Given the description of an element on the screen output the (x, y) to click on. 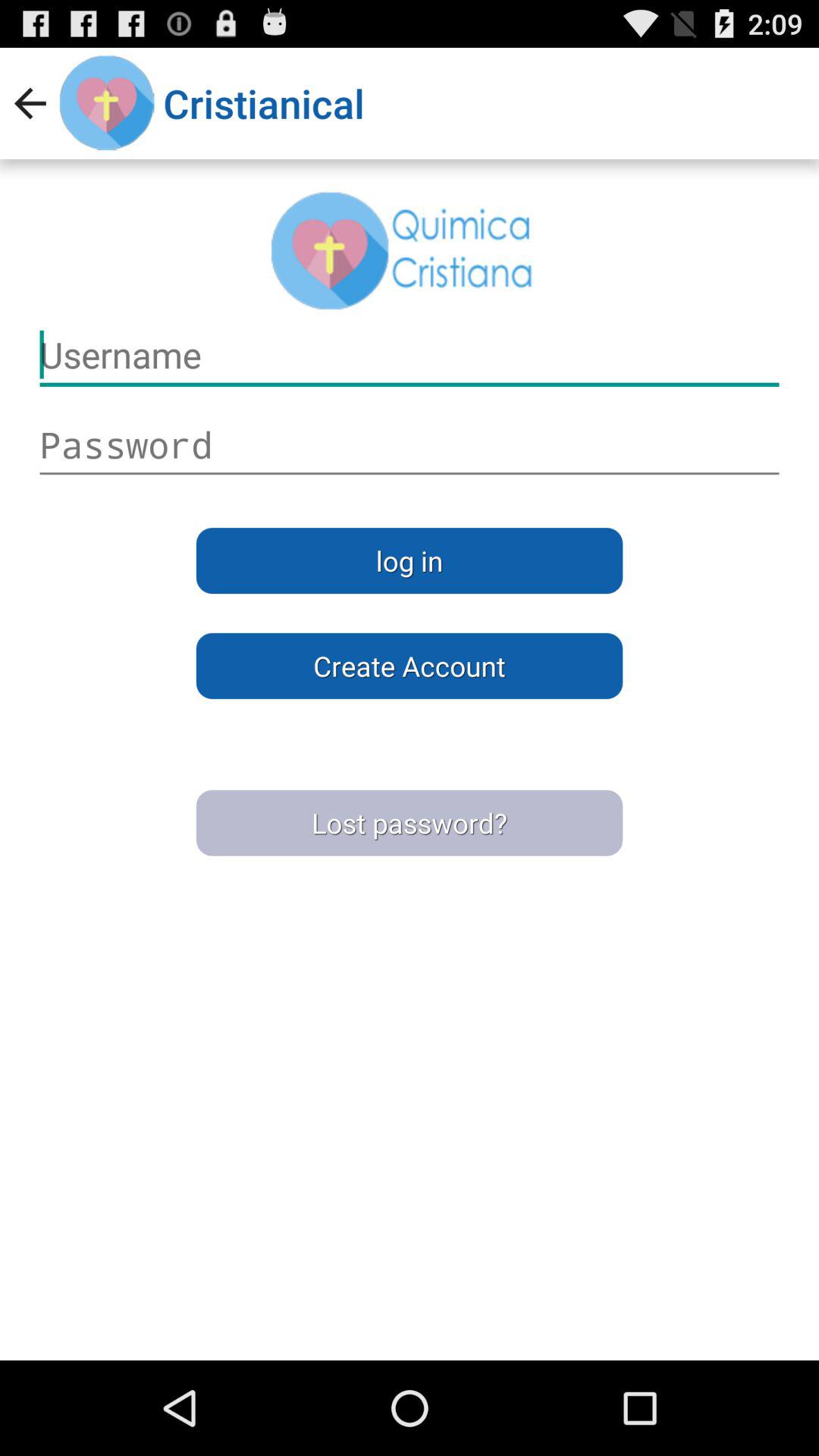
launch item below log in item (409, 665)
